Given the description of an element on the screen output the (x, y) to click on. 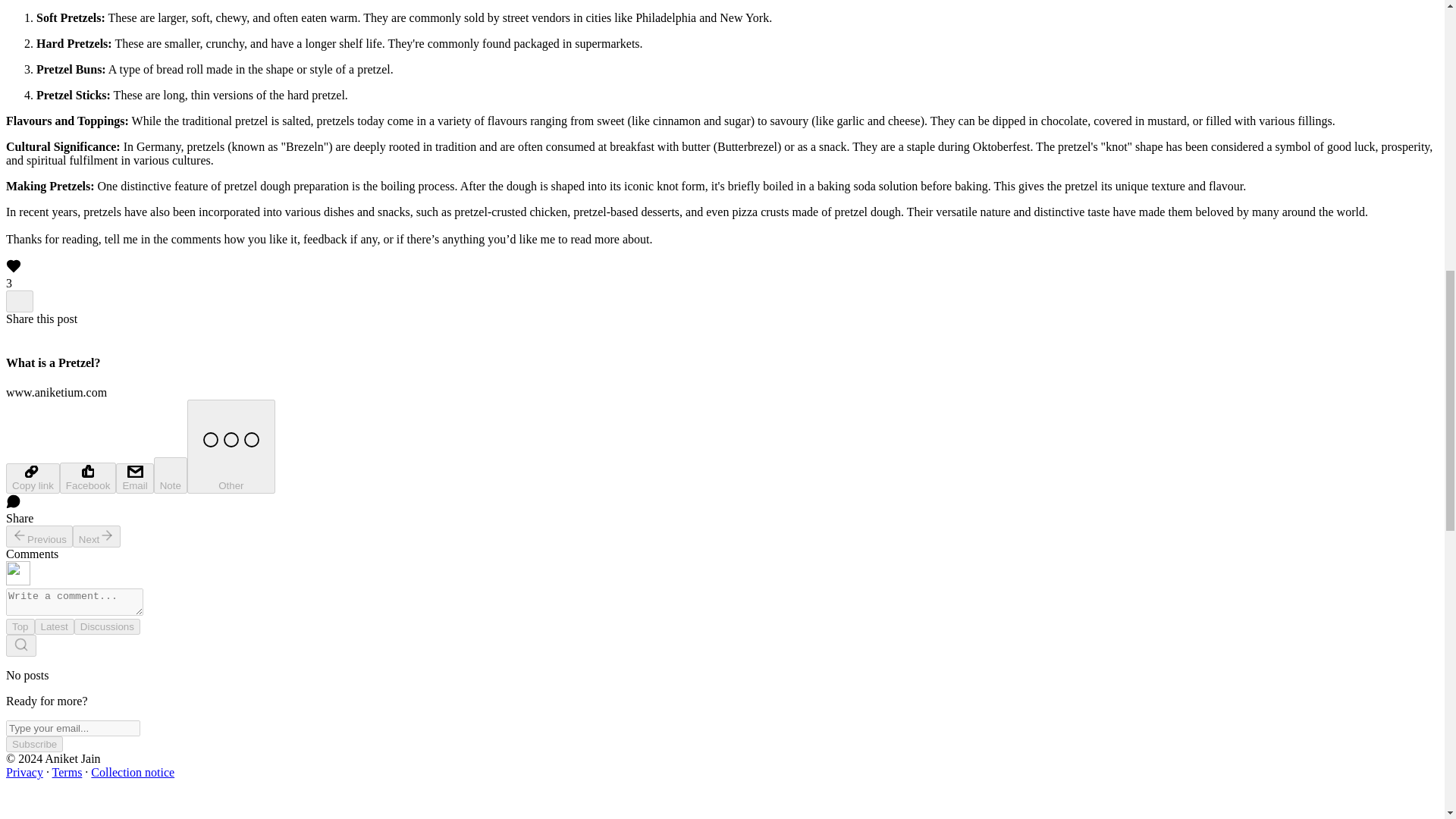
Latest (54, 626)
Other (231, 446)
Previous (38, 536)
Privacy (24, 771)
Note (170, 475)
Subscribe (33, 744)
Discussions (106, 626)
Facebook (87, 477)
Next (96, 536)
Email (134, 478)
Top (19, 626)
Terms (67, 771)
Copy link (32, 478)
